Given the description of an element on the screen output the (x, y) to click on. 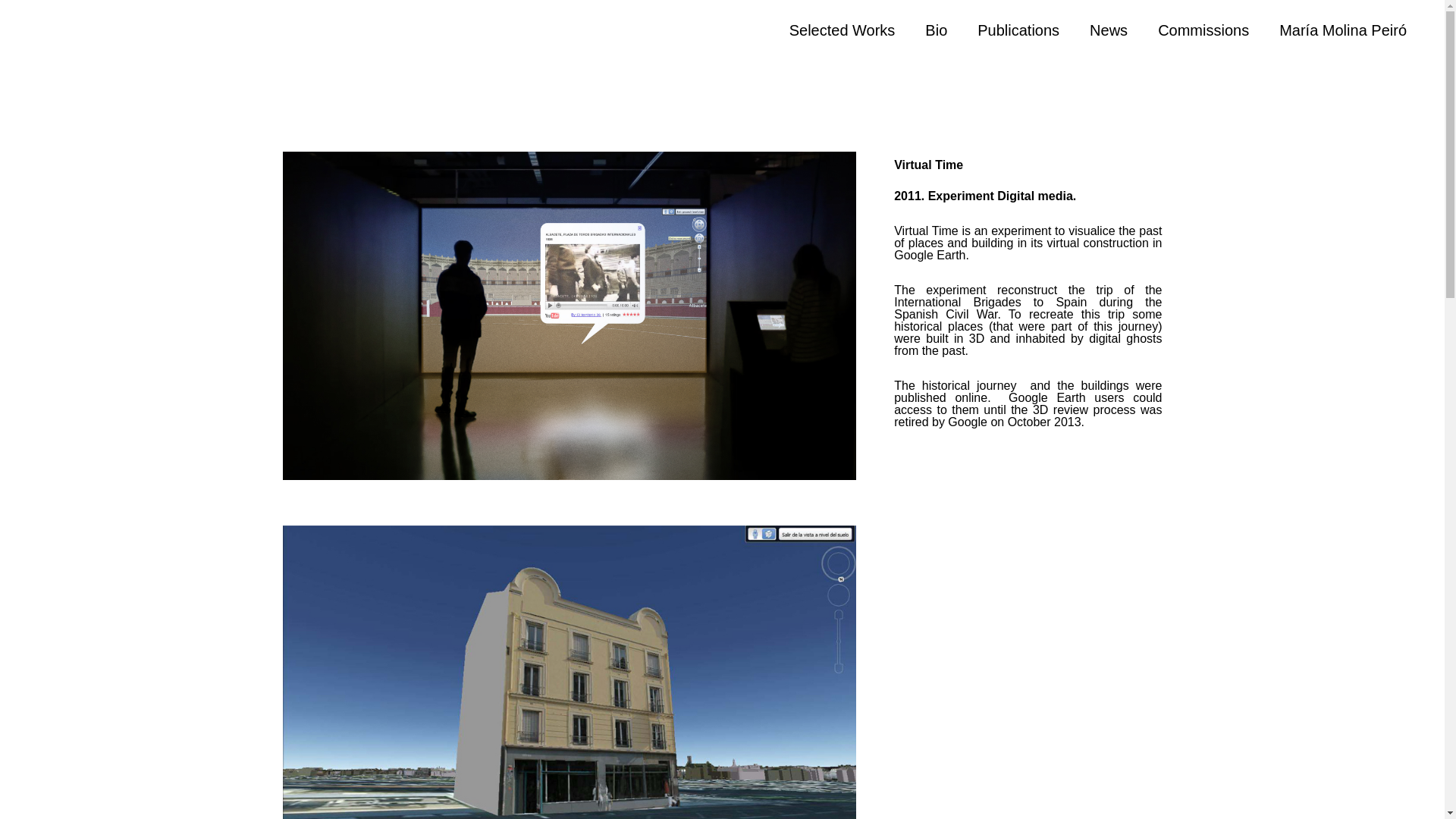
Publications (1018, 30)
News (1108, 30)
Commissions (1202, 30)
Selected Works (842, 30)
Publications (1018, 30)
Commissions (1202, 30)
Selected Works (842, 30)
News (1108, 30)
Bio (936, 30)
Bio (936, 30)
